Given the description of an element on the screen output the (x, y) to click on. 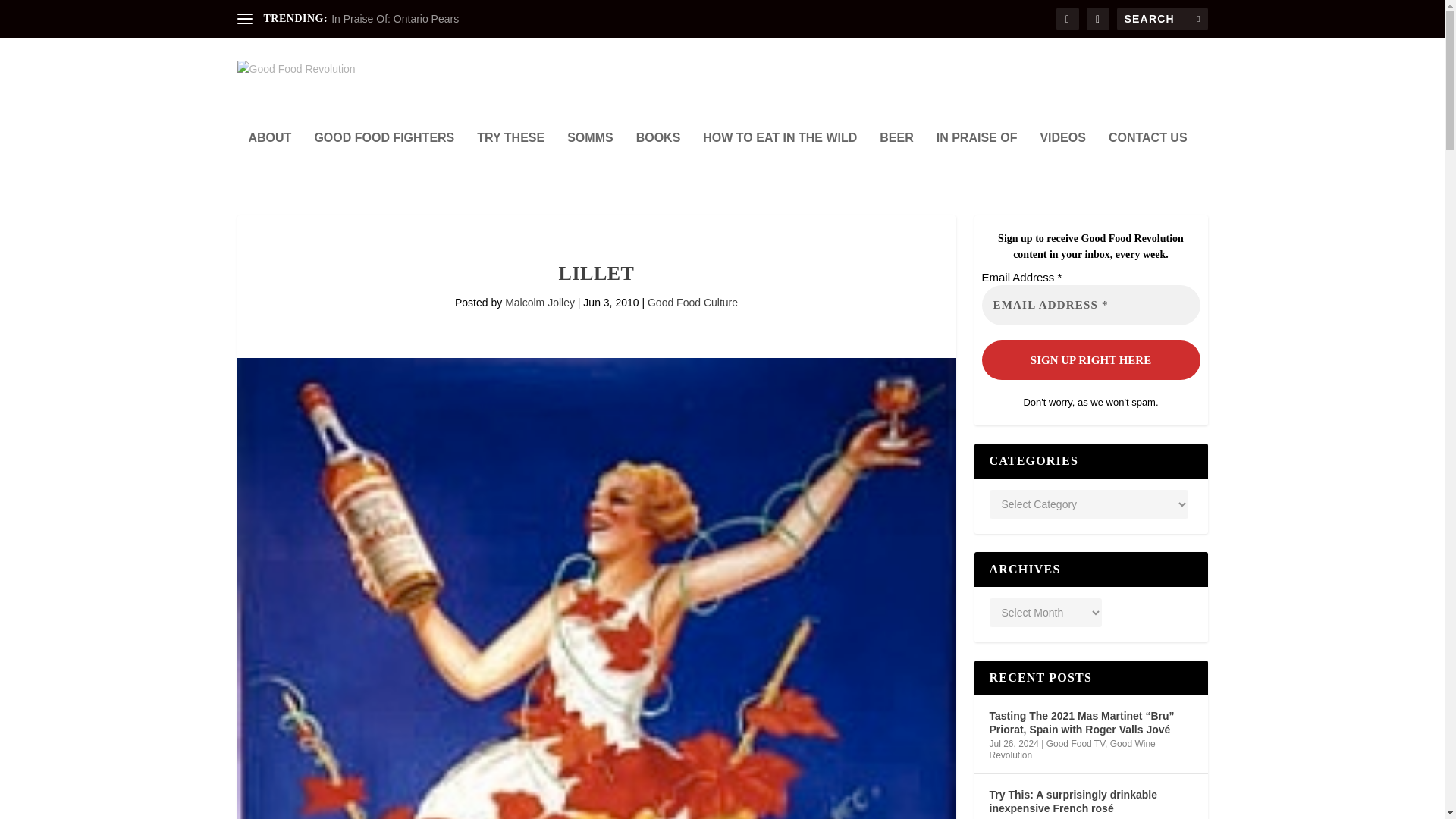
GOOD FOOD FIGHTERS (384, 158)
Posts by Malcolm Jolley (540, 302)
Search for: (1161, 18)
In Praise Of: Ontario Pears (394, 19)
Good Food Culture (692, 302)
IN PRAISE OF (976, 158)
Malcolm Jolley (540, 302)
TRY THESE (510, 158)
HOW TO EAT IN THE WILD (780, 158)
Sign Up Right Here (1090, 359)
CONTACT US (1148, 158)
